Given the description of an element on the screen output the (x, y) to click on. 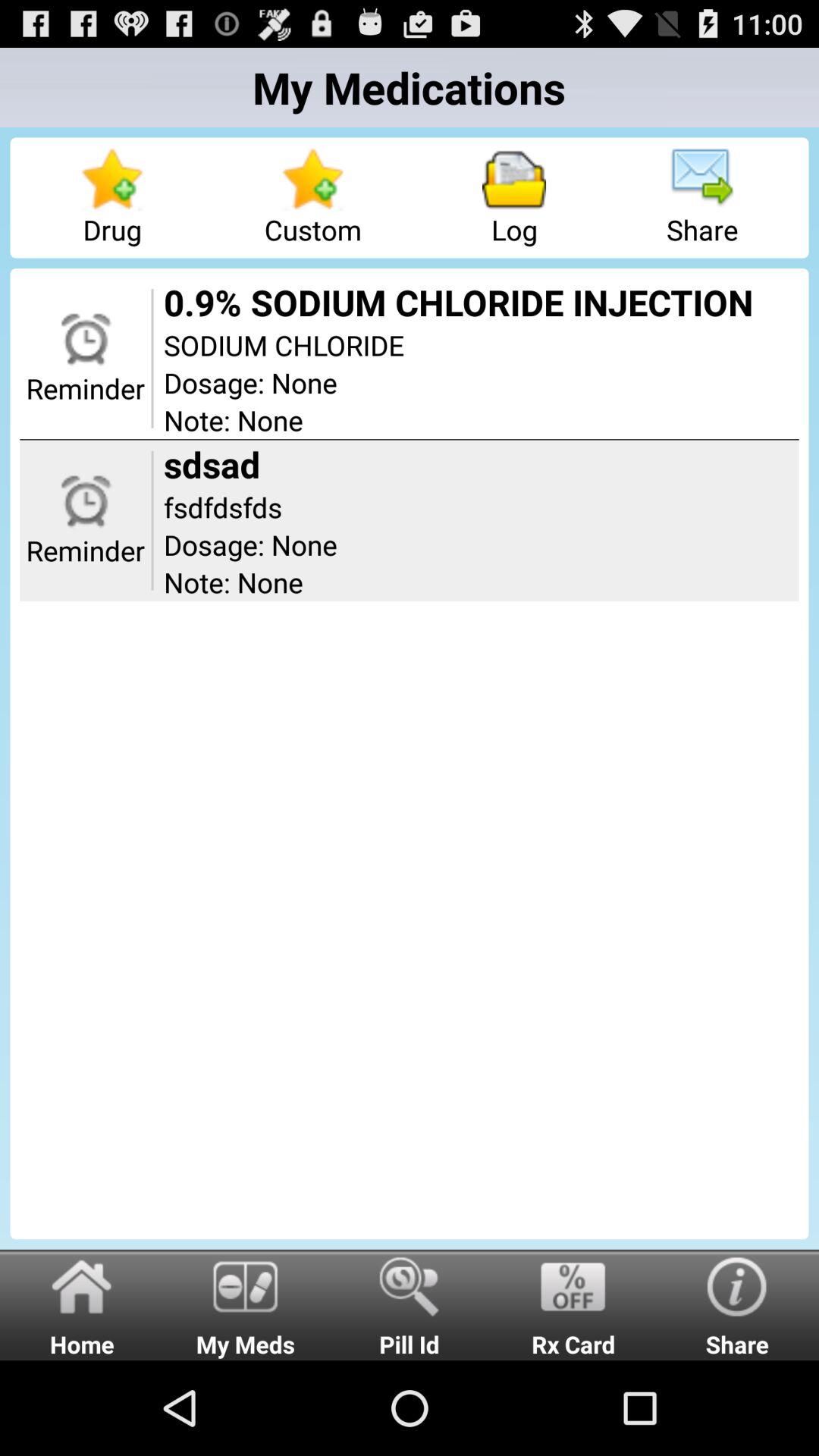
open the item to the right of home item (245, 1304)
